Given the description of an element on the screen output the (x, y) to click on. 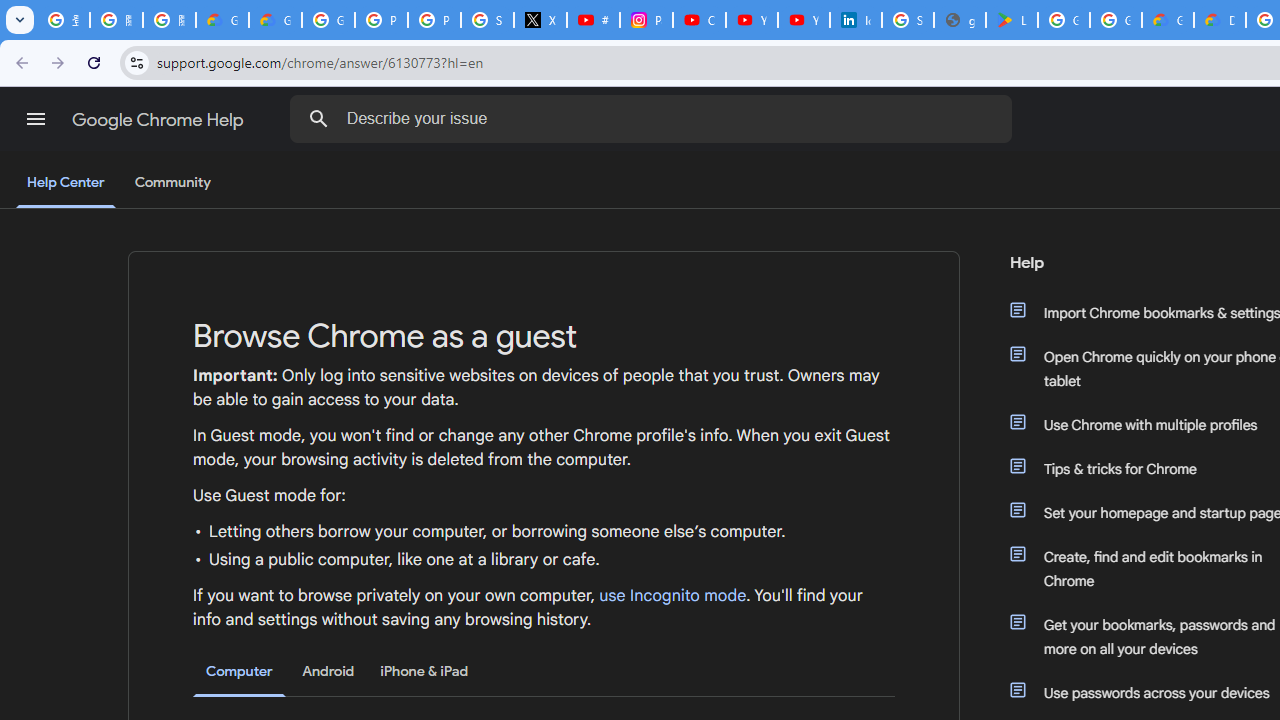
Describe your issue (653, 118)
Search Help Center (318, 118)
Google Cloud Privacy Notice (275, 20)
Help Center (65, 183)
YouTube Culture & Trends - YouTube Top 10, 2021 (803, 20)
Main menu (35, 119)
Google Chrome Help (159, 119)
Sign in - Google Accounts (907, 20)
